Given the description of an element on the screen output the (x, y) to click on. 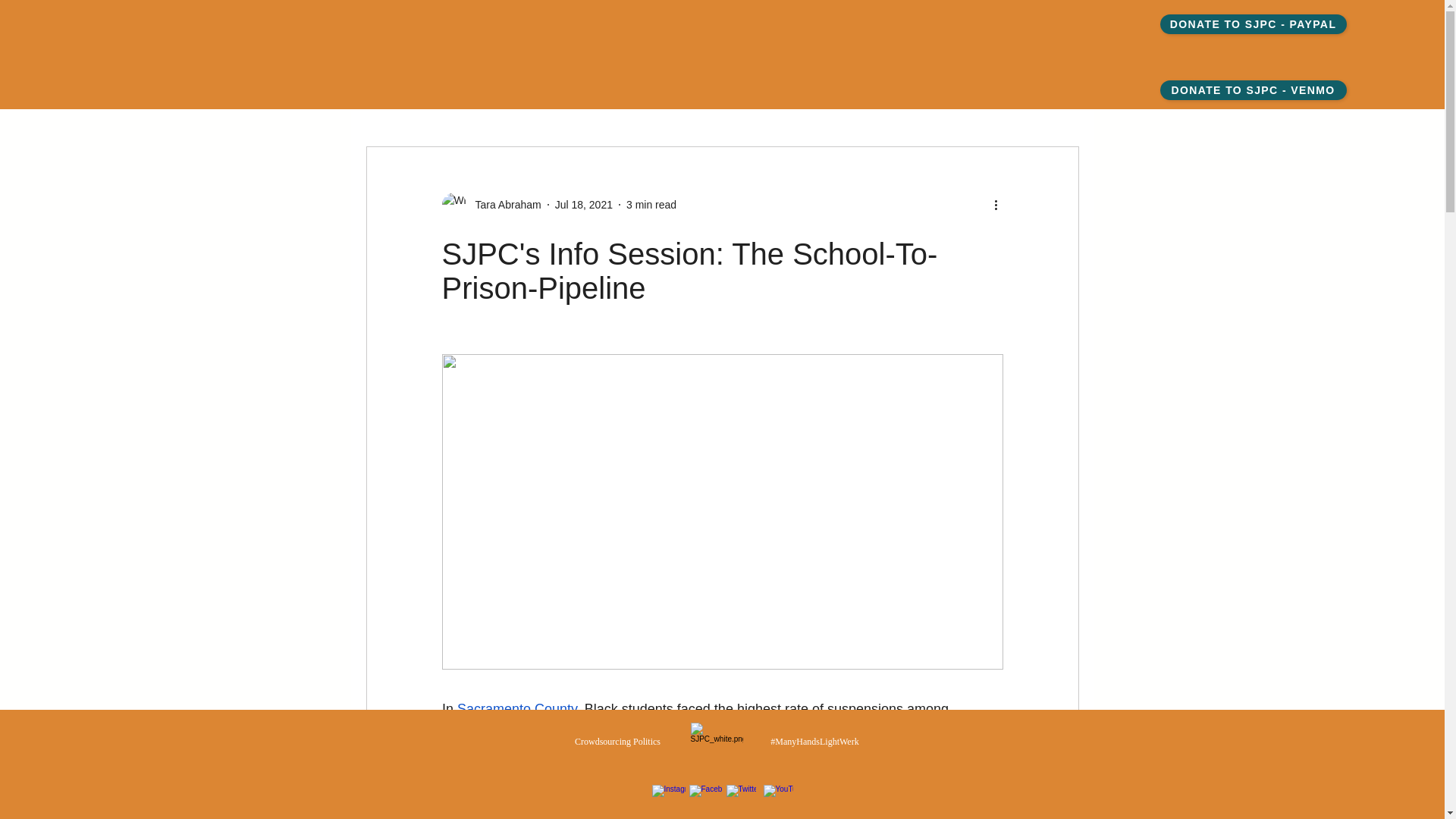
Tara Abraham (502, 204)
Jul 18, 2021 (583, 204)
3 min read (651, 204)
